Given the description of an element on the screen output the (x, y) to click on. 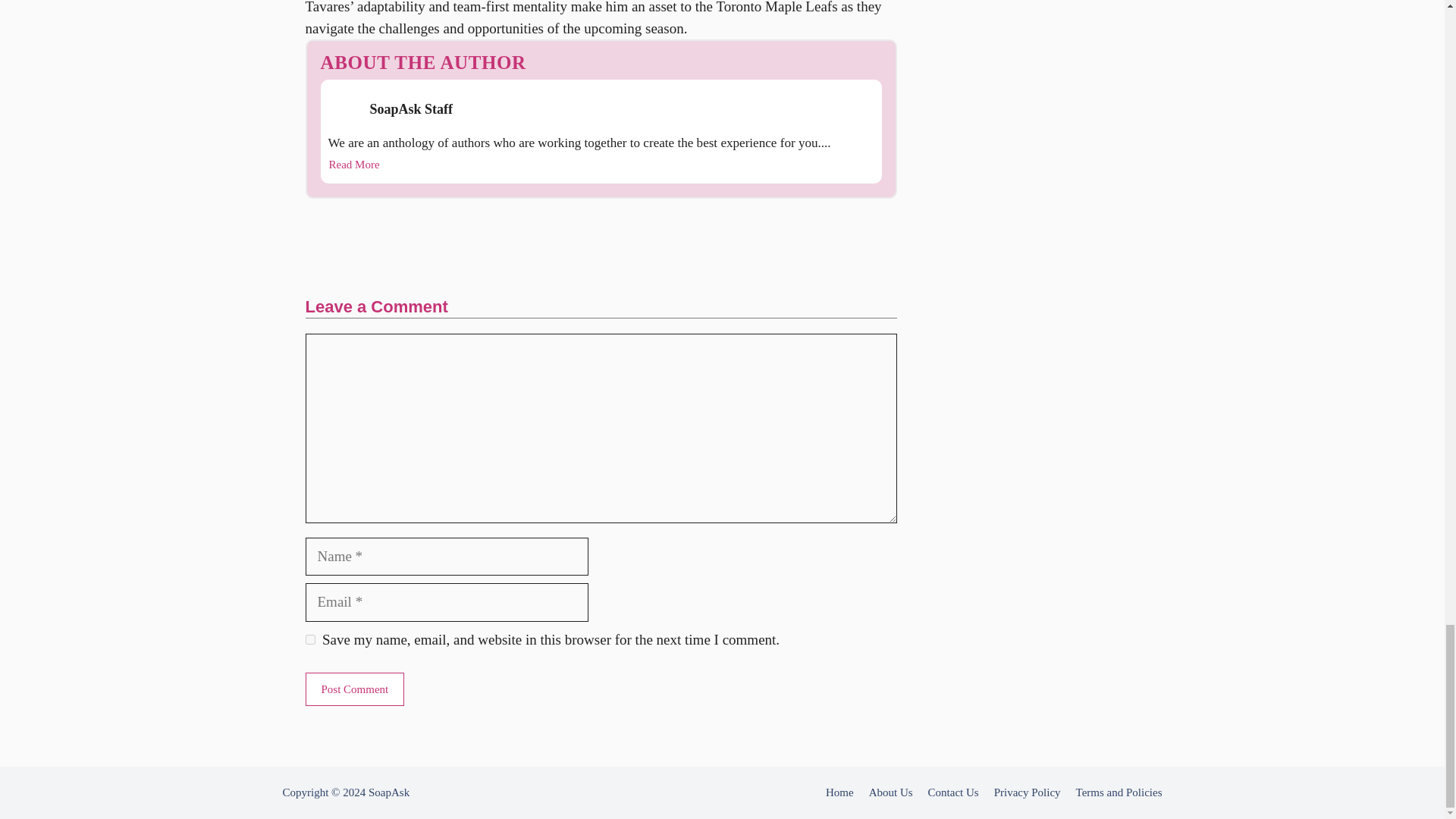
yes (309, 639)
Post Comment (354, 689)
